Given the description of an element on the screen output the (x, y) to click on. 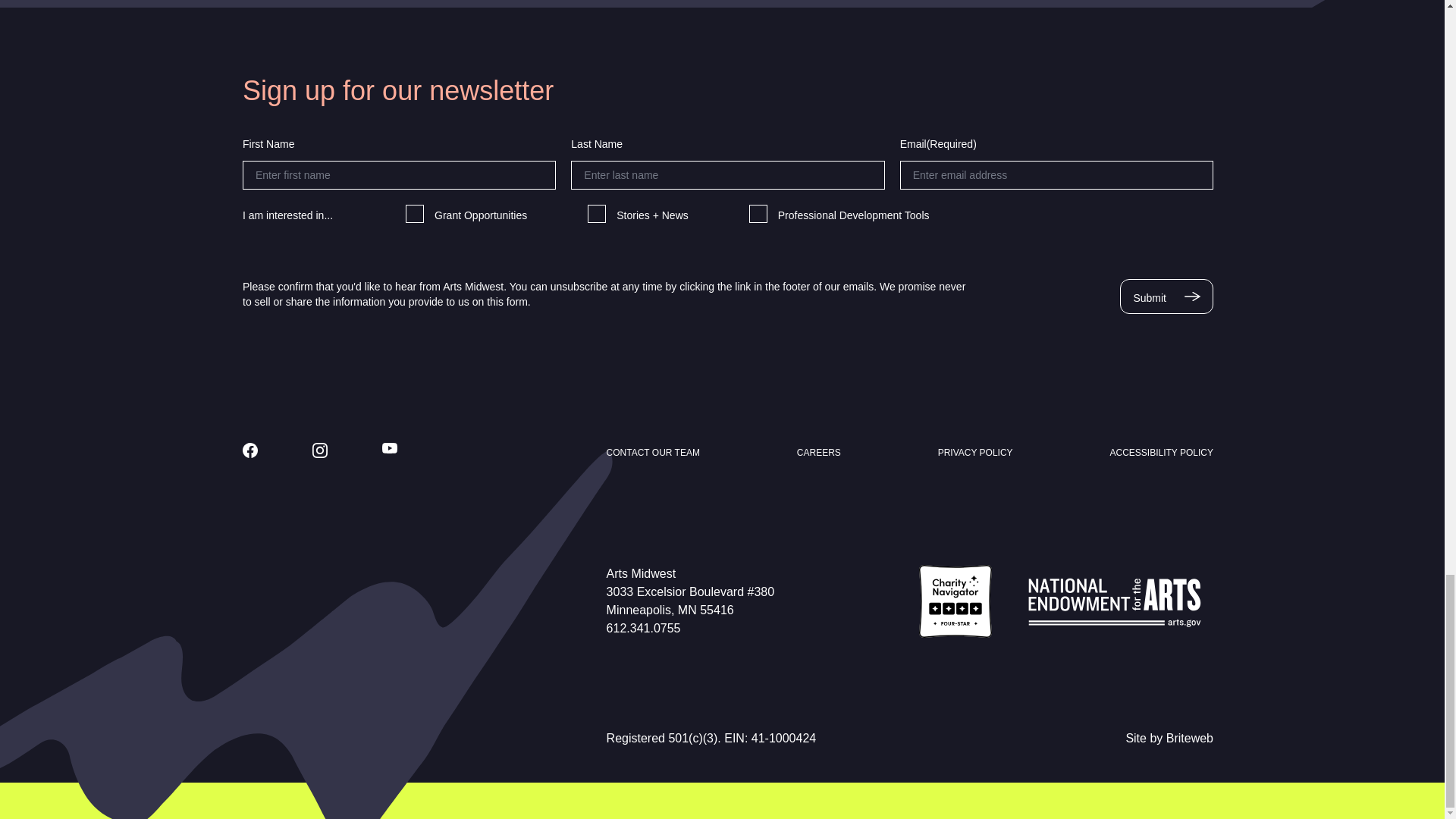
Contact Our Team (653, 452)
Careers (818, 452)
National Endowment for the Arts (1114, 601)
Professional Development Tools (758, 213)
Follow us on Instagram (320, 450)
Accessibility Policy (1160, 452)
Follow us on Facebook (250, 450)
Arts Midwest on Charity Navigator (954, 601)
Grant Opportunities (414, 213)
Privacy Policy (975, 452)
